Given the description of an element on the screen output the (x, y) to click on. 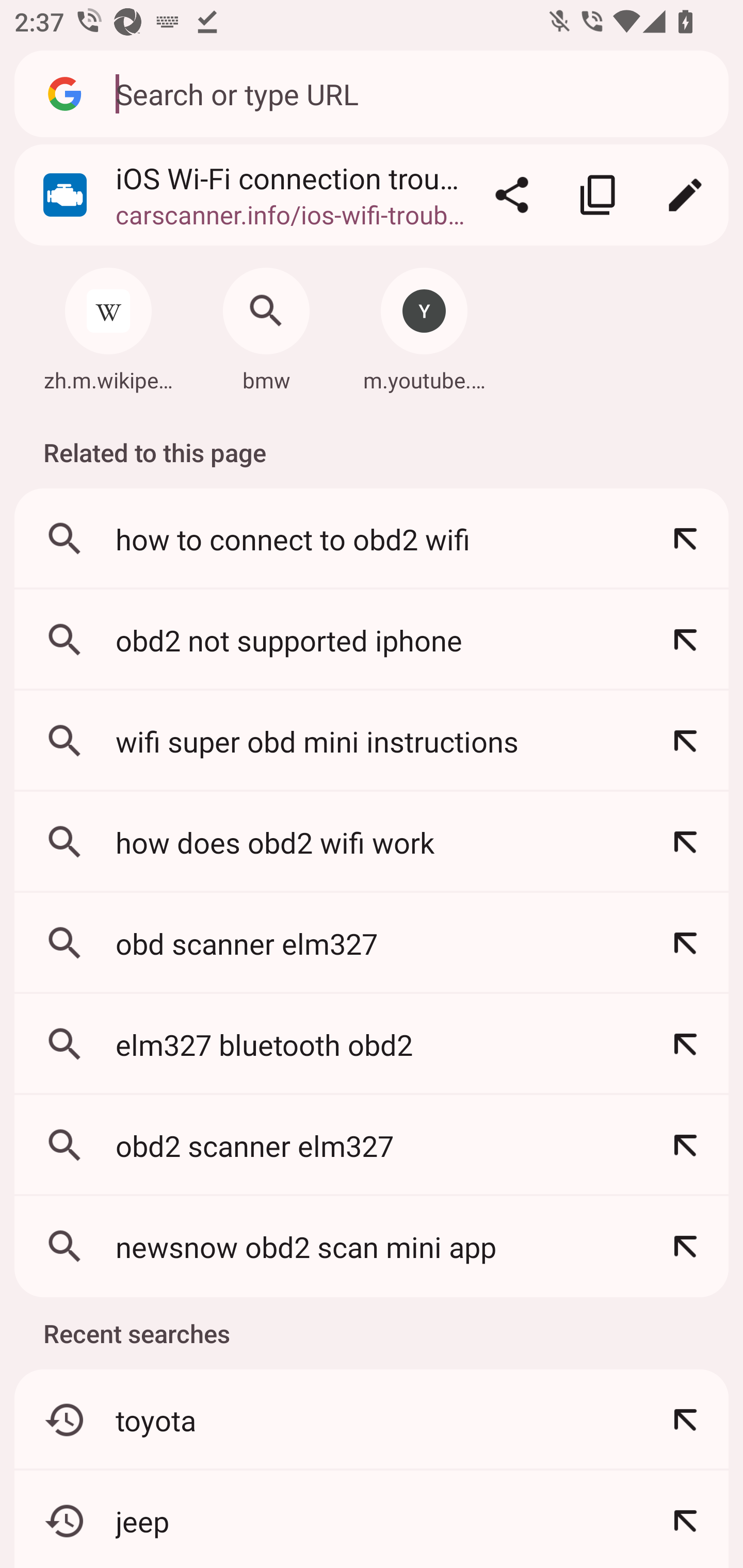
Search or type URL (410, 92)
Share… (511, 195)
Copy link (598, 195)
Edit (684, 195)
Search: bmw bmw (265, 324)
Refine: how to connect to obd2 wifi (684, 539)
Refine: obd2 not supported iphone (684, 639)
Refine: wifi super obd mini instructions (684, 740)
Refine: how does obd2 wifi work (684, 841)
obd scanner elm327 Refine: obd scanner elm327 (371, 943)
Refine: obd scanner elm327 (684, 943)
Refine: elm327 bluetooth obd2 (684, 1044)
obd2 scanner elm327 Refine: obd2 scanner elm327 (371, 1145)
Refine: obd2 scanner elm327 (684, 1145)
Refine: newsnow obd2 scan mini app (684, 1246)
toyota Refine: toyota (371, 1419)
Refine: toyota (684, 1419)
jeep Refine: jeep (371, 1519)
Refine: jeep (684, 1519)
